Given the description of an element on the screen output the (x, y) to click on. 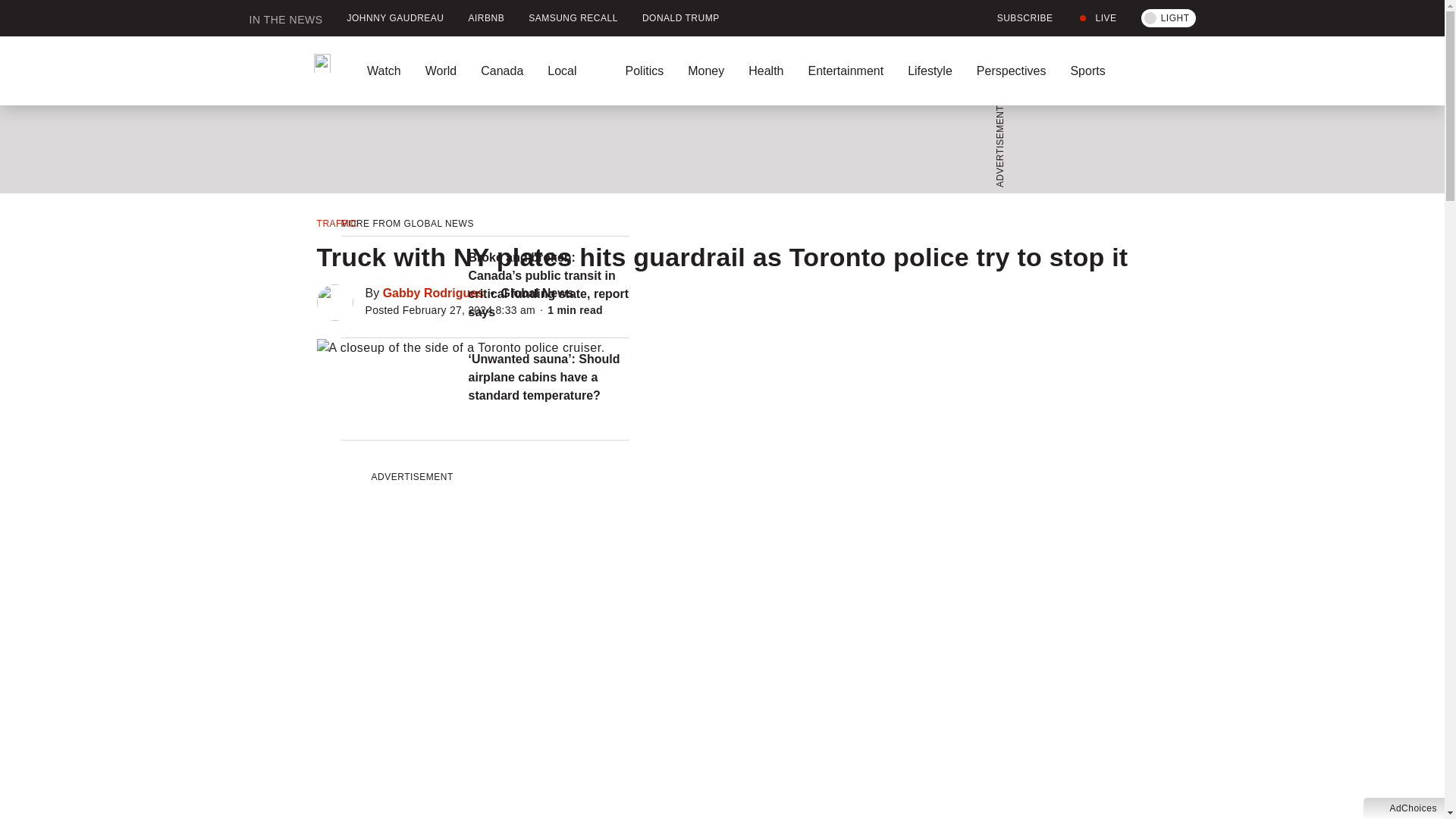
Politics (643, 70)
GlobalNews home (289, 70)
Lifestyle (929, 70)
SAMSUNG RECALL (573, 18)
LIVE (1096, 18)
Posts by Gabby Rodrigues (432, 293)
Entertainment (844, 70)
SUBSCRIBE (1015, 18)
Local (573, 70)
